Given the description of an element on the screen output the (x, y) to click on. 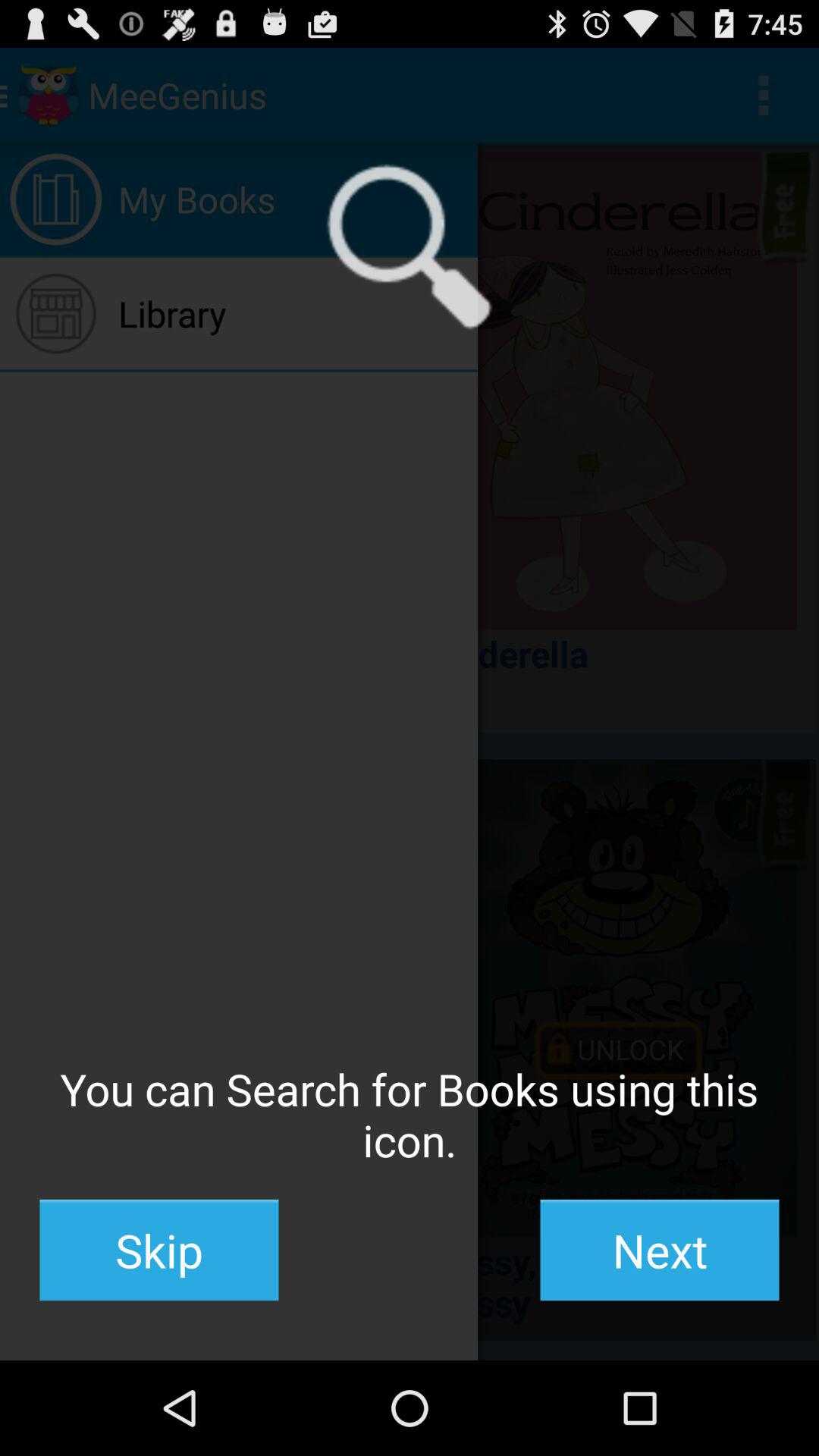
turn off the app below the you can search app (158, 1249)
